Given the description of an element on the screen output the (x, y) to click on. 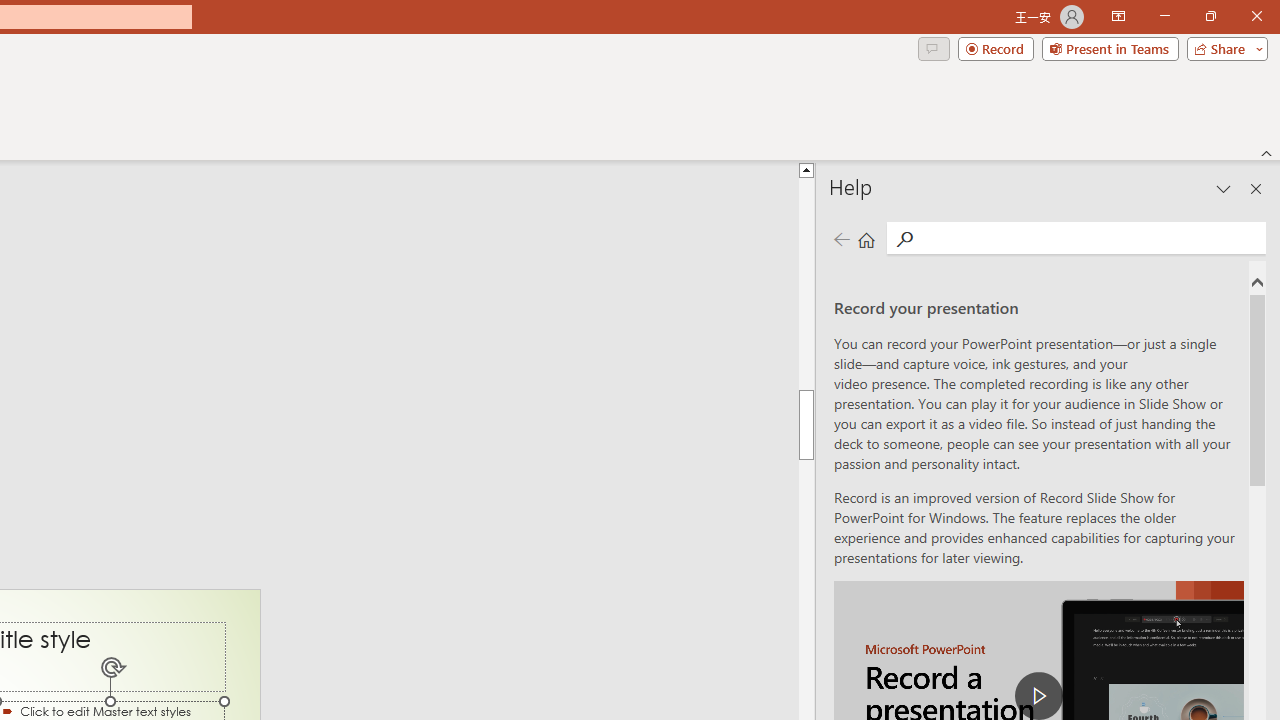
play Record a Presentation (1038, 695)
Previous page (841, 238)
